Given the description of an element on the screen output the (x, y) to click on. 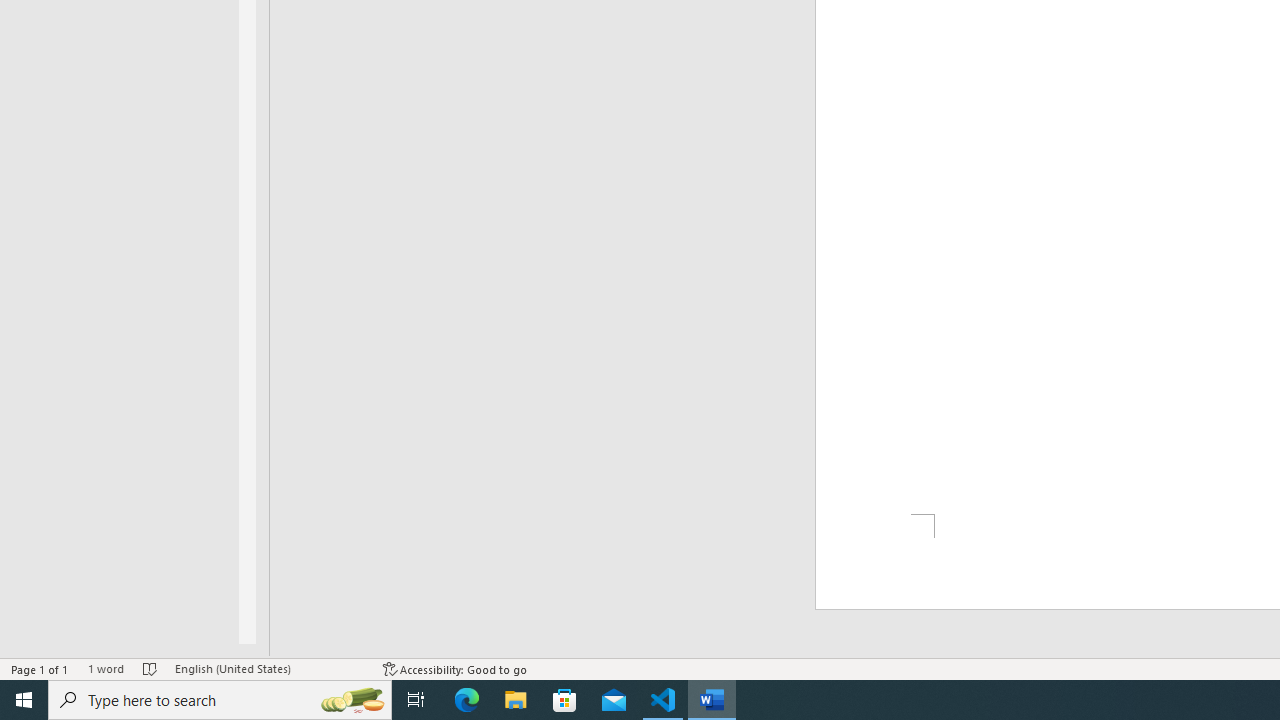
Language English (United States) (269, 668)
Page Number Page 1 of 1 (39, 668)
Spelling and Grammar Check No Errors (150, 668)
Accessibility Checker Accessibility: Good to go (455, 668)
